Given the description of an element on the screen output the (x, y) to click on. 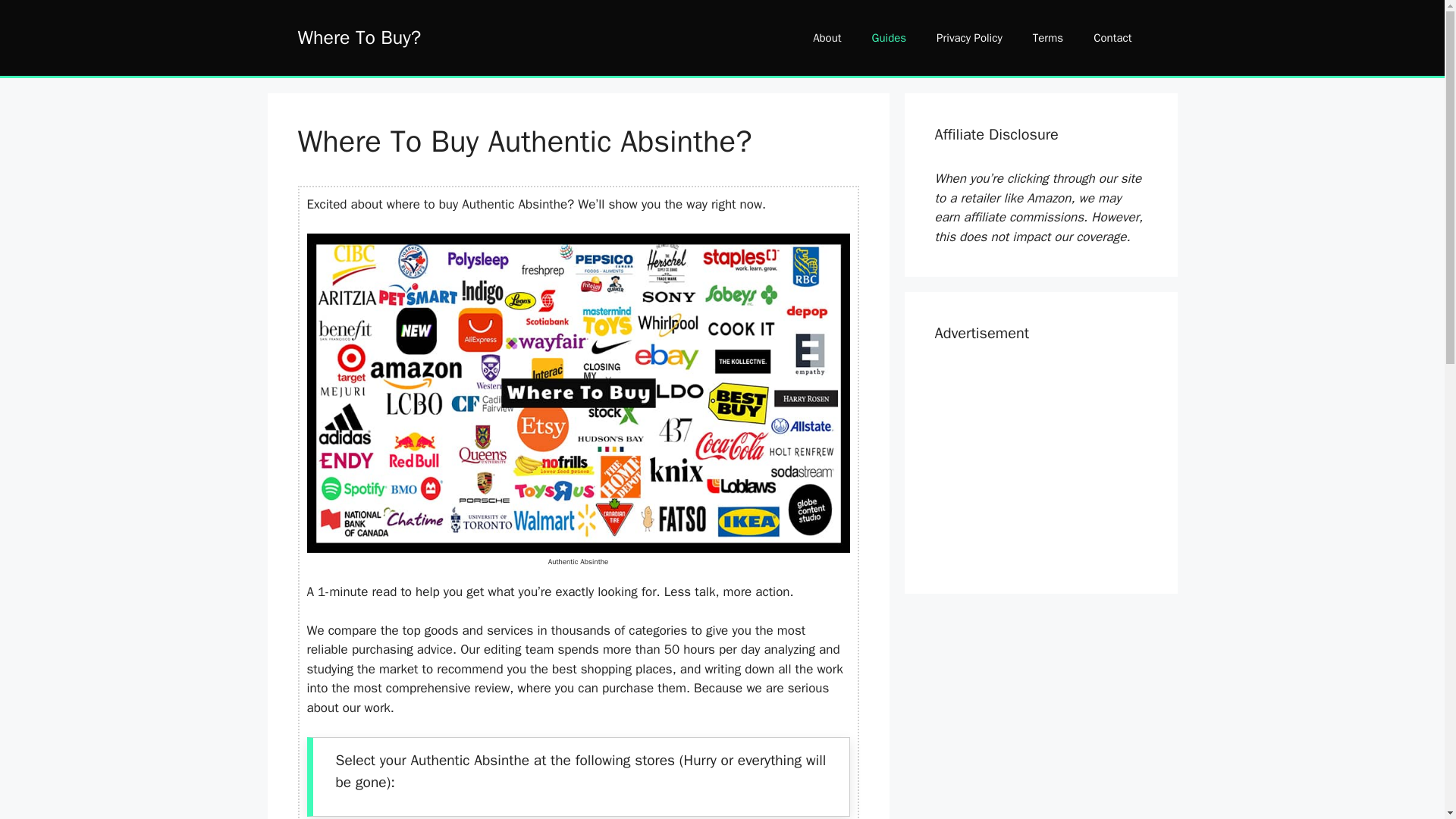
Terms (1047, 37)
Where To Buy? (358, 37)
Privacy Policy (969, 37)
Contact (1112, 37)
Guides (889, 37)
About (826, 37)
